Given the description of an element on the screen output the (x, y) to click on. 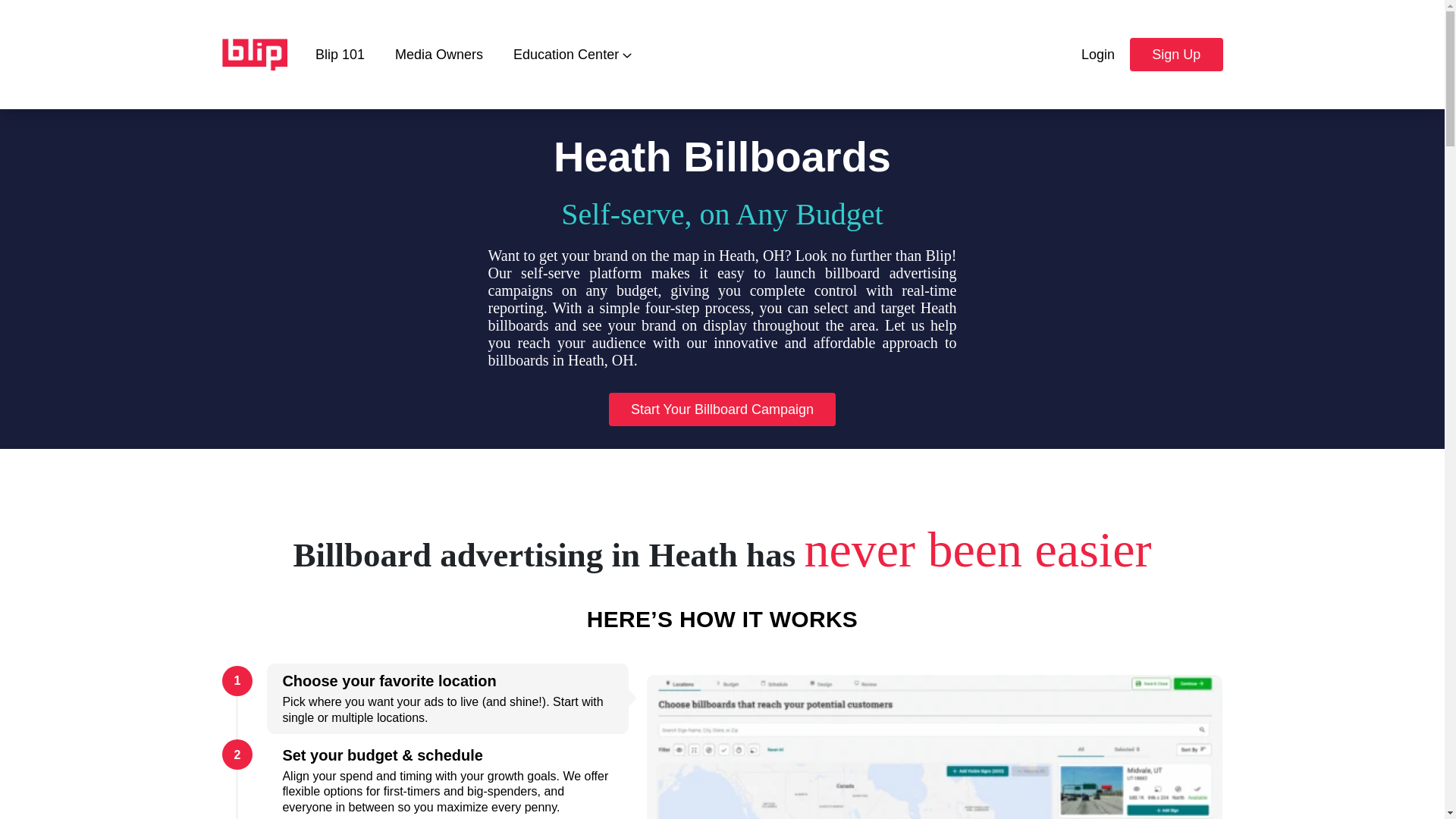
Login (1096, 54)
Media Owners (438, 53)
Education Center (572, 53)
Start Your Billboard Campaign (721, 409)
Blip 101 (339, 53)
Sign Up (1176, 54)
